Given the description of an element on the screen output the (x, y) to click on. 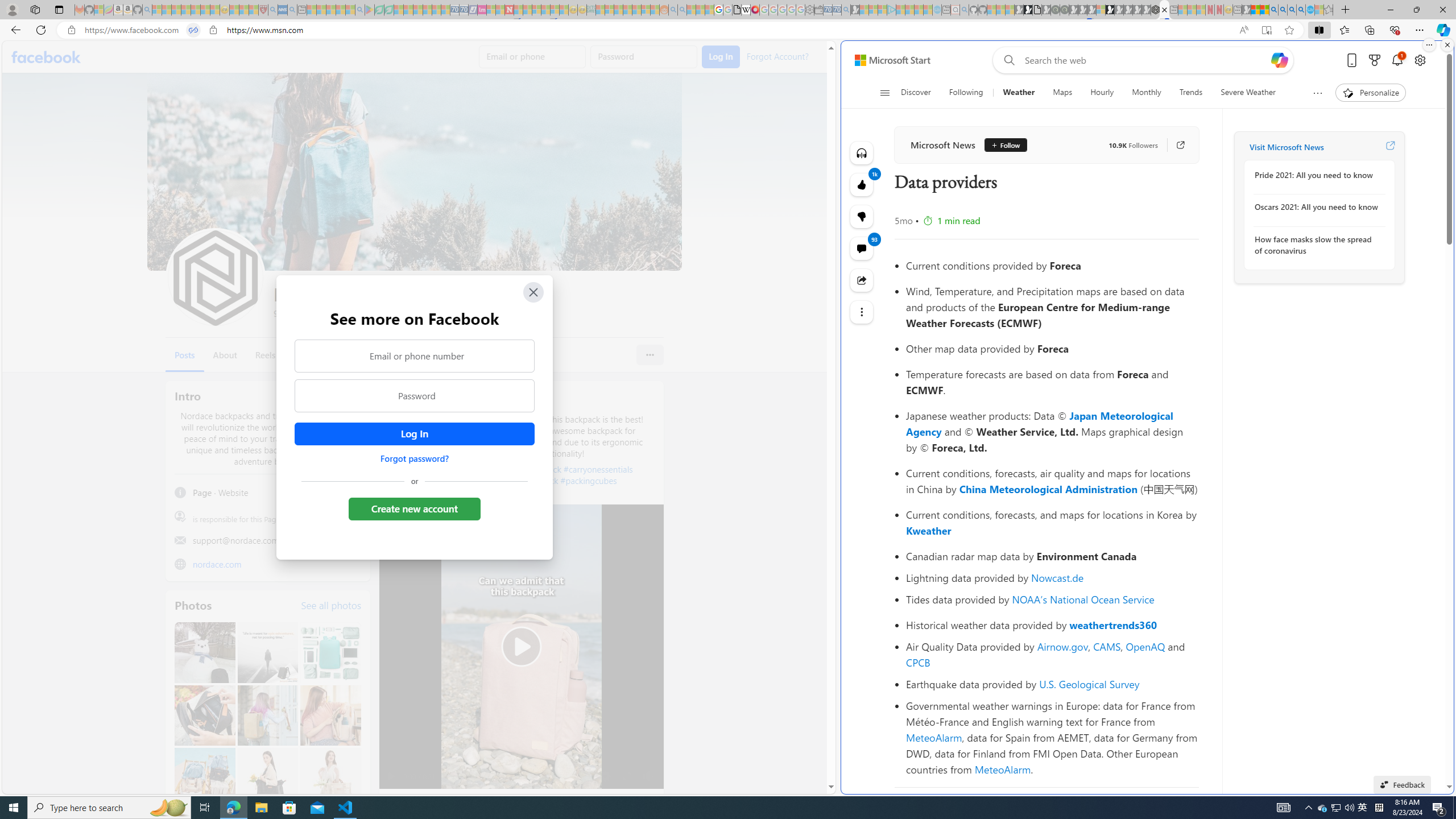
Other map data provided by Foreca (1051, 348)
Tab actions menu (58, 9)
Back (13, 29)
Class: at-item (861, 312)
Email or phone number (414, 355)
Copilot (Ctrl+Shift+.) (1442, 29)
CPCB (917, 662)
Notifications (1397, 60)
